Given the description of an element on the screen output the (x, y) to click on. 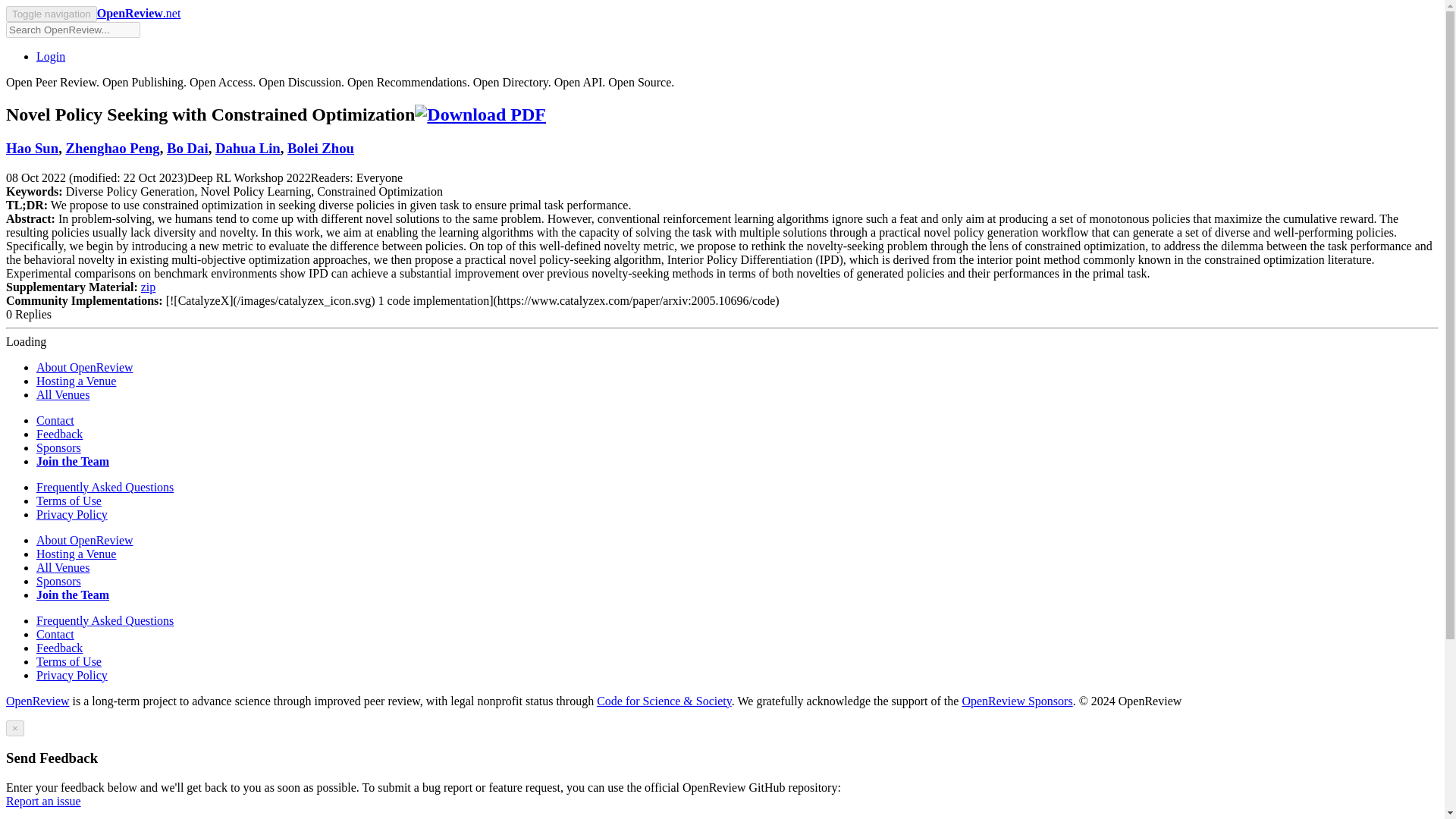
Privacy Policy (71, 675)
Contact (55, 634)
Terms of Use (68, 500)
About OpenReview (84, 367)
Feedback (59, 647)
OpenReview Sponsors (1015, 700)
Sponsors (58, 581)
About OpenReview (84, 540)
Terms of Use (68, 661)
Privacy Policy (71, 513)
Feedback (59, 433)
Contact (55, 420)
Join the Team (72, 461)
Hosting a Venue (76, 380)
OpenReview (37, 700)
